Given the description of an element on the screen output the (x, y) to click on. 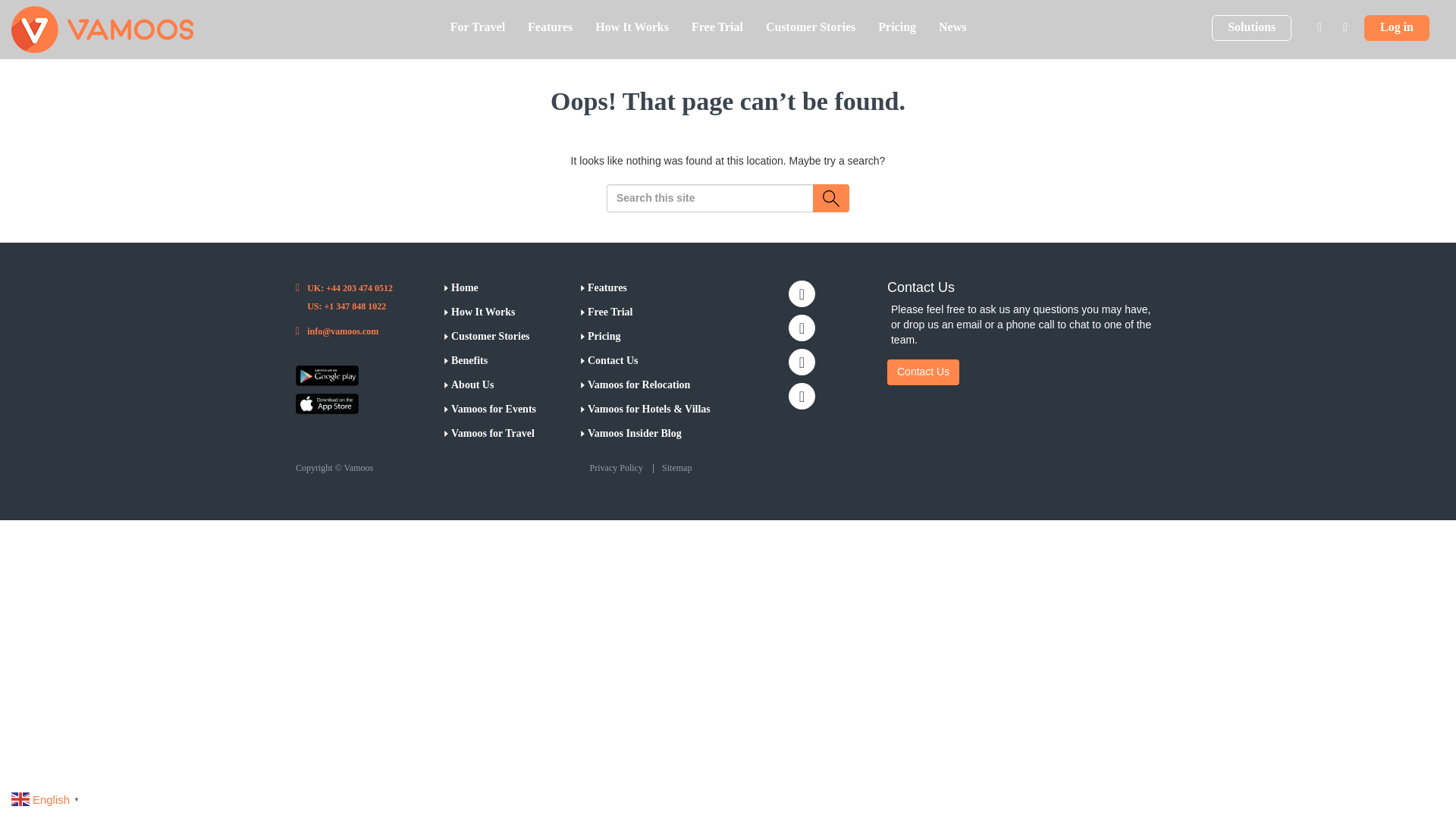
Log in (1396, 27)
Customer Stories (810, 27)
Free Trial (716, 27)
Search (830, 198)
Pricing (896, 27)
Features (549, 27)
News (951, 27)
Solutions (1251, 27)
For Travel (477, 27)
How It Works (631, 27)
